Given the description of an element on the screen output the (x, y) to click on. 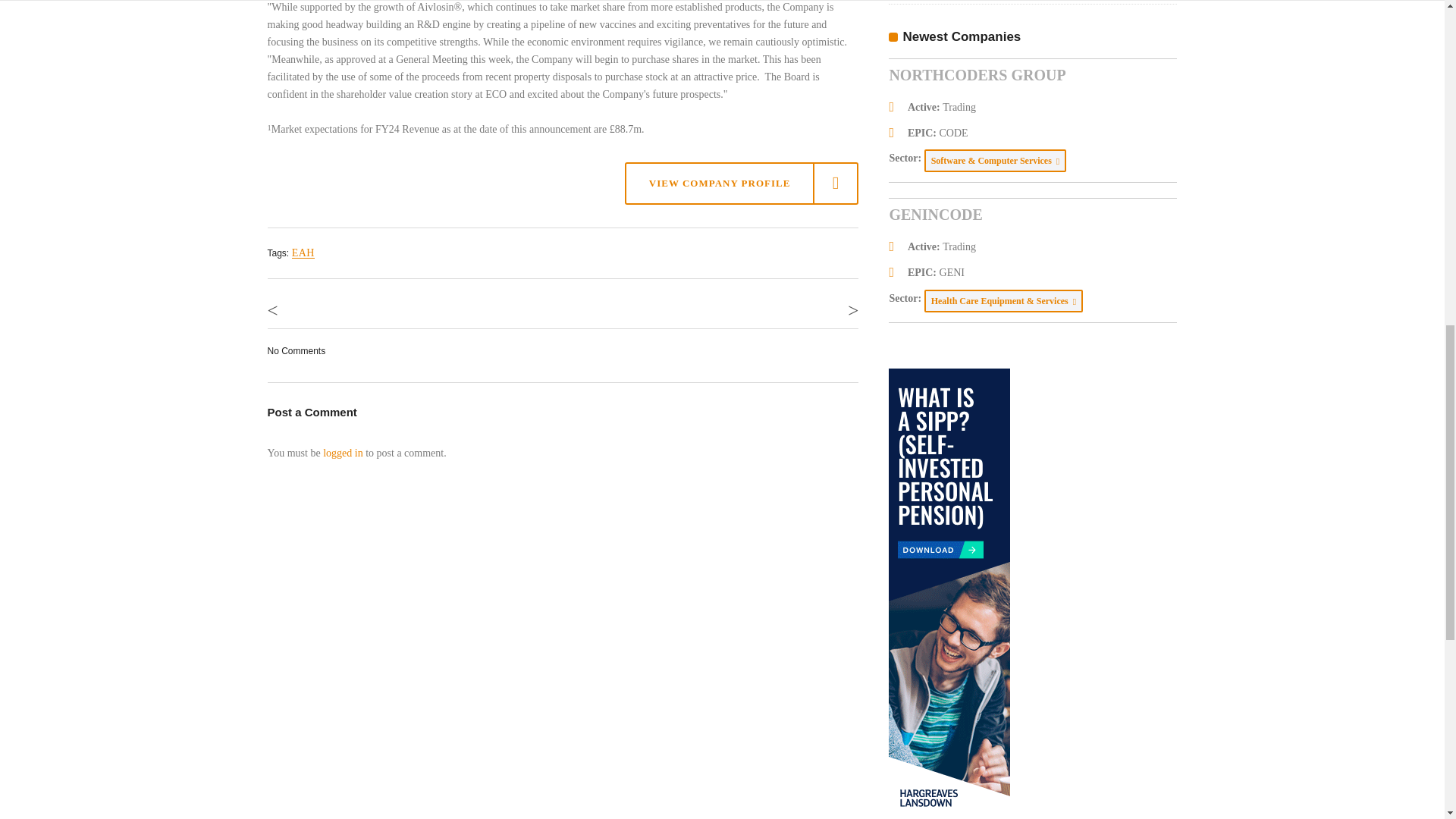
GENINCODE (934, 214)
NORTHCODERS GROUP (976, 74)
